Given the description of an element on the screen output the (x, y) to click on. 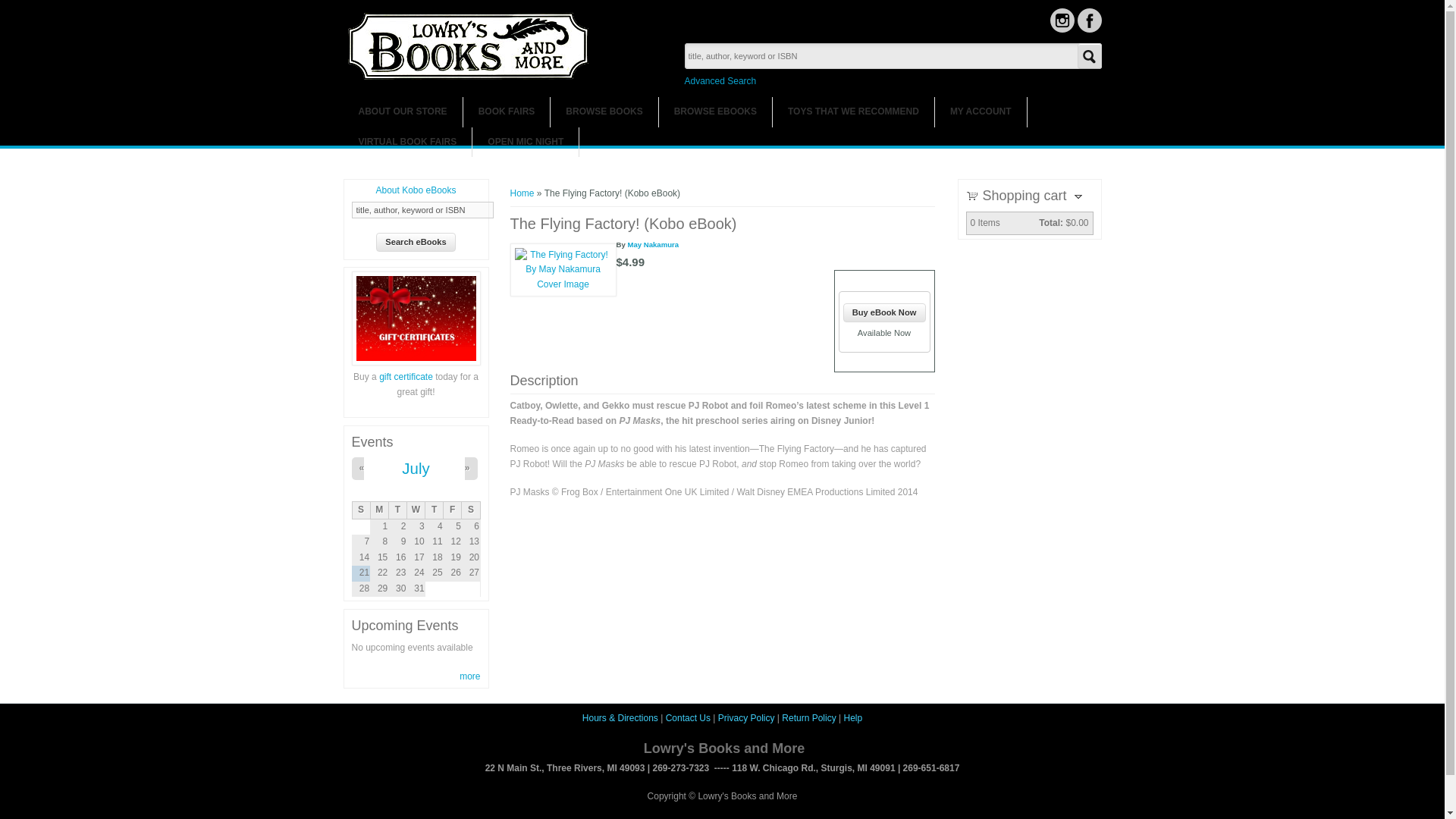
TOYS THAT WE RECOMMEND (853, 111)
ABOUT OUR STORE (401, 111)
MY ACCOUNT (980, 111)
BOOK FAIRS (506, 111)
VIRTUAL BOOK FAIRS (406, 142)
Search eBooks (415, 241)
Home (468, 77)
BROWSE BOOKS (604, 111)
Buy eBook Now (884, 312)
Enter the terms you wish to search for. (892, 55)
Enter title, author, keyword or ISBN. (422, 209)
Advanced Search (719, 81)
BROWSE EBOOKS (715, 111)
title, author, keyword or ISBN (422, 209)
Search (1088, 55)
